Given the description of an element on the screen output the (x, y) to click on. 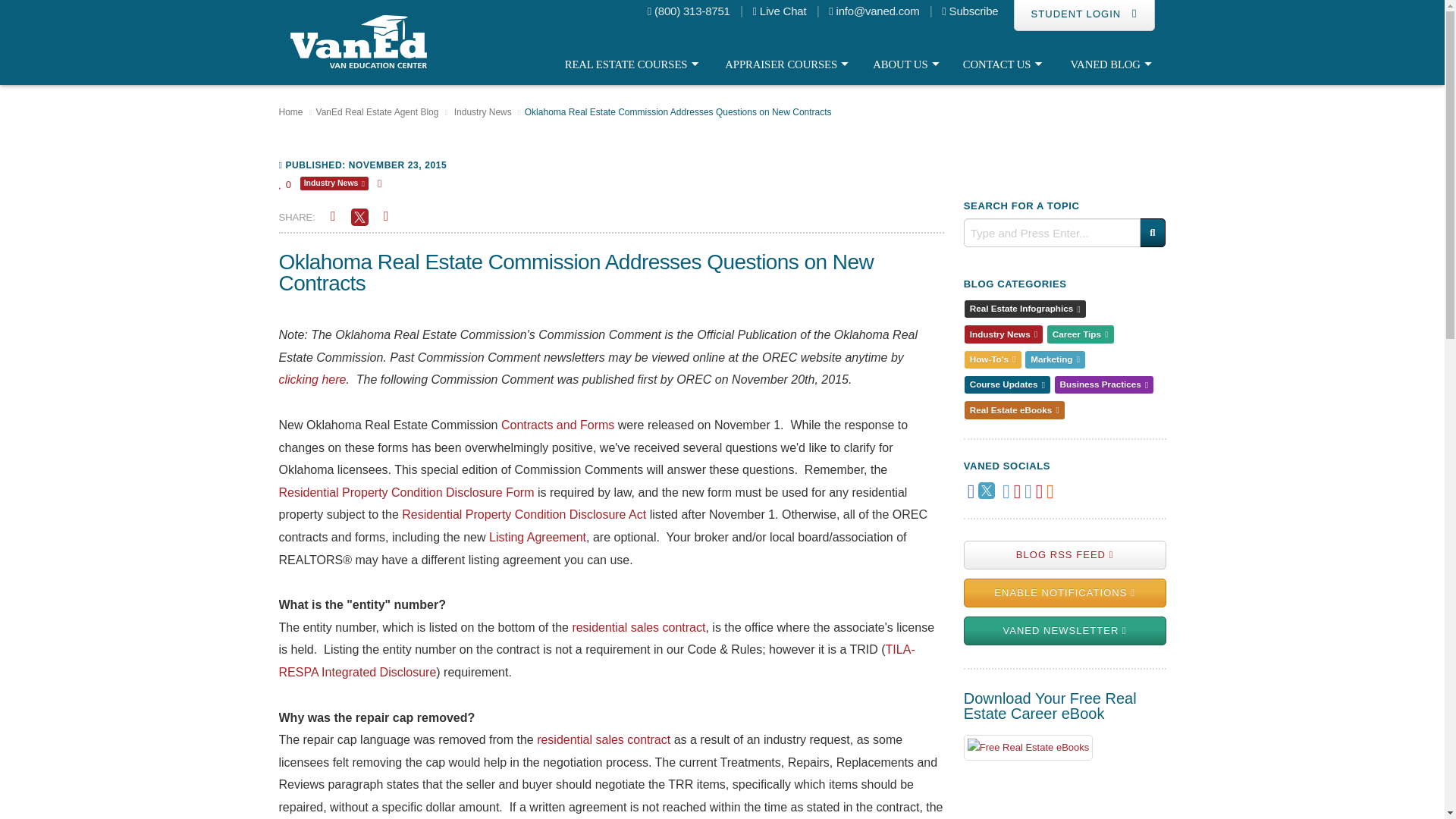
Click to share this post on X (359, 215)
CONTACT US (1004, 64)
APPRAISER COURSES (790, 64)
ABOUT US (908, 64)
REAL ESTATE COURSES (635, 64)
